Given the description of an element on the screen output the (x, y) to click on. 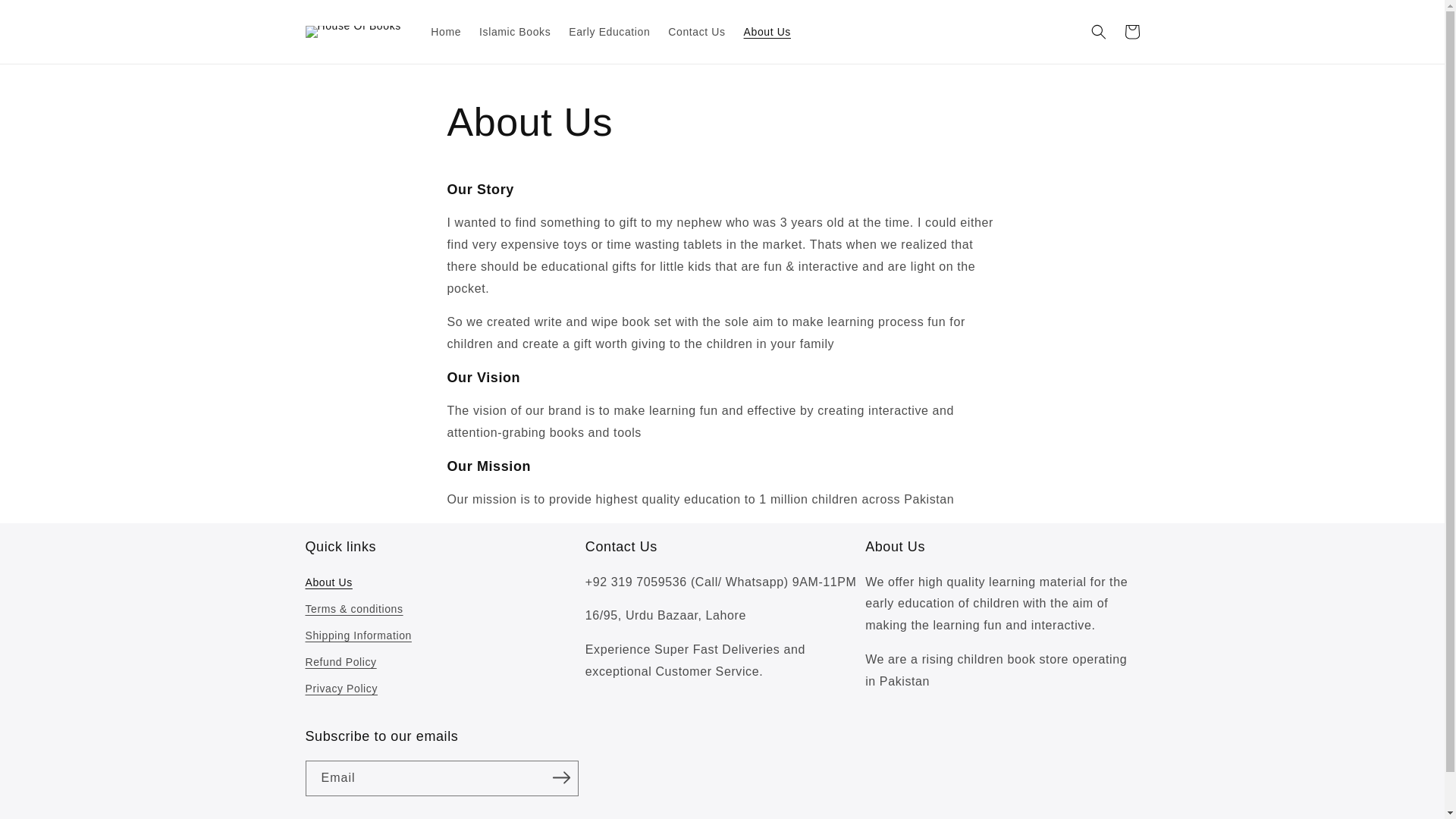
Contact Us (696, 31)
About Us (328, 584)
Skip to content (45, 17)
Early Education (609, 31)
Refund Policy (339, 662)
Islamic Books (514, 31)
About Us (767, 31)
Home (446, 31)
Privacy Policy (340, 688)
Shipping Information (357, 635)
Cart (1131, 31)
